Given the description of an element on the screen output the (x, y) to click on. 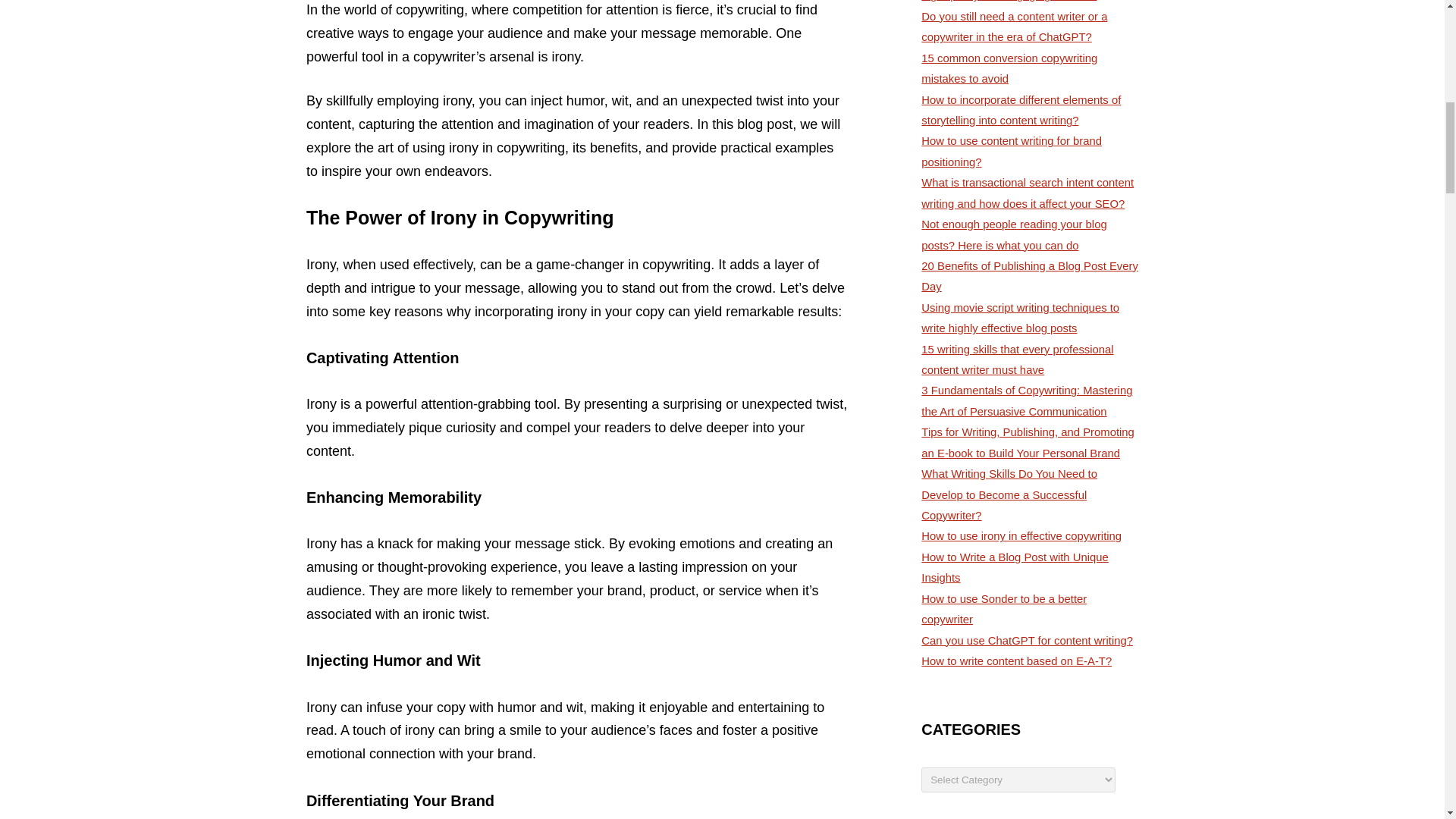
How to use content writing for brand positioning? (1011, 151)
15 common conversion copywriting mistakes to avoid (1009, 68)
